Given the description of an element on the screen output the (x, y) to click on. 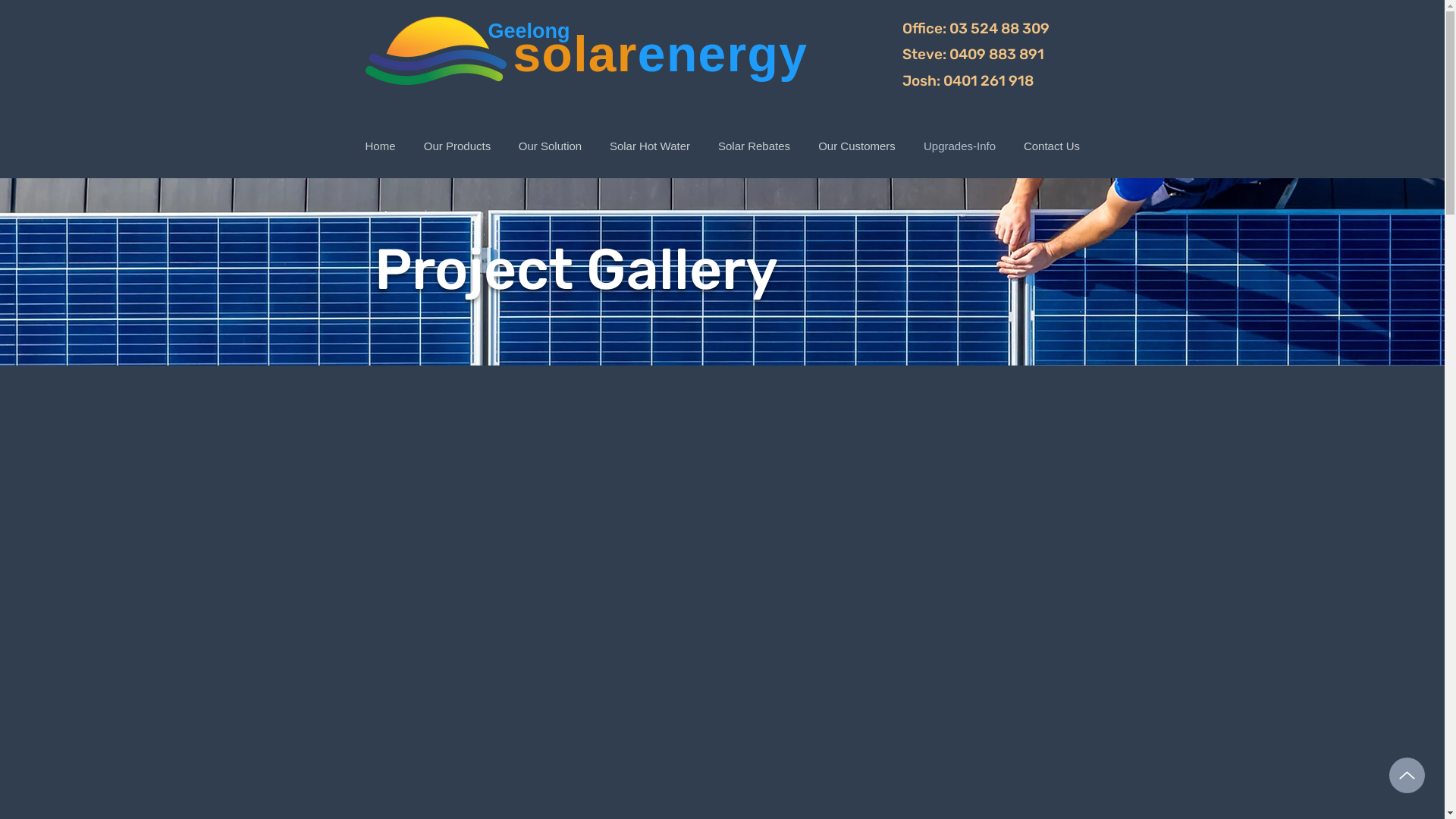
  Element type: text (1050, 28)
Our Solution Element type: text (550, 146)
logo symbol.png Element type: hover (435, 50)
03 524 88 309 Element type: text (999, 28)
Solar Hot Water Element type: text (650, 146)
Home Element type: text (379, 146)
0401 261 918 Element type: text (988, 80)
Our Customers Element type: text (856, 146)
0409 883 891 Element type: text (996, 53)
Contact Us Element type: text (1052, 146)
Our Products Element type: text (456, 146)
Upgrades-Info Element type: text (960, 146)
Solar Rebates Element type: text (753, 146)
